Given the description of an element on the screen output the (x, y) to click on. 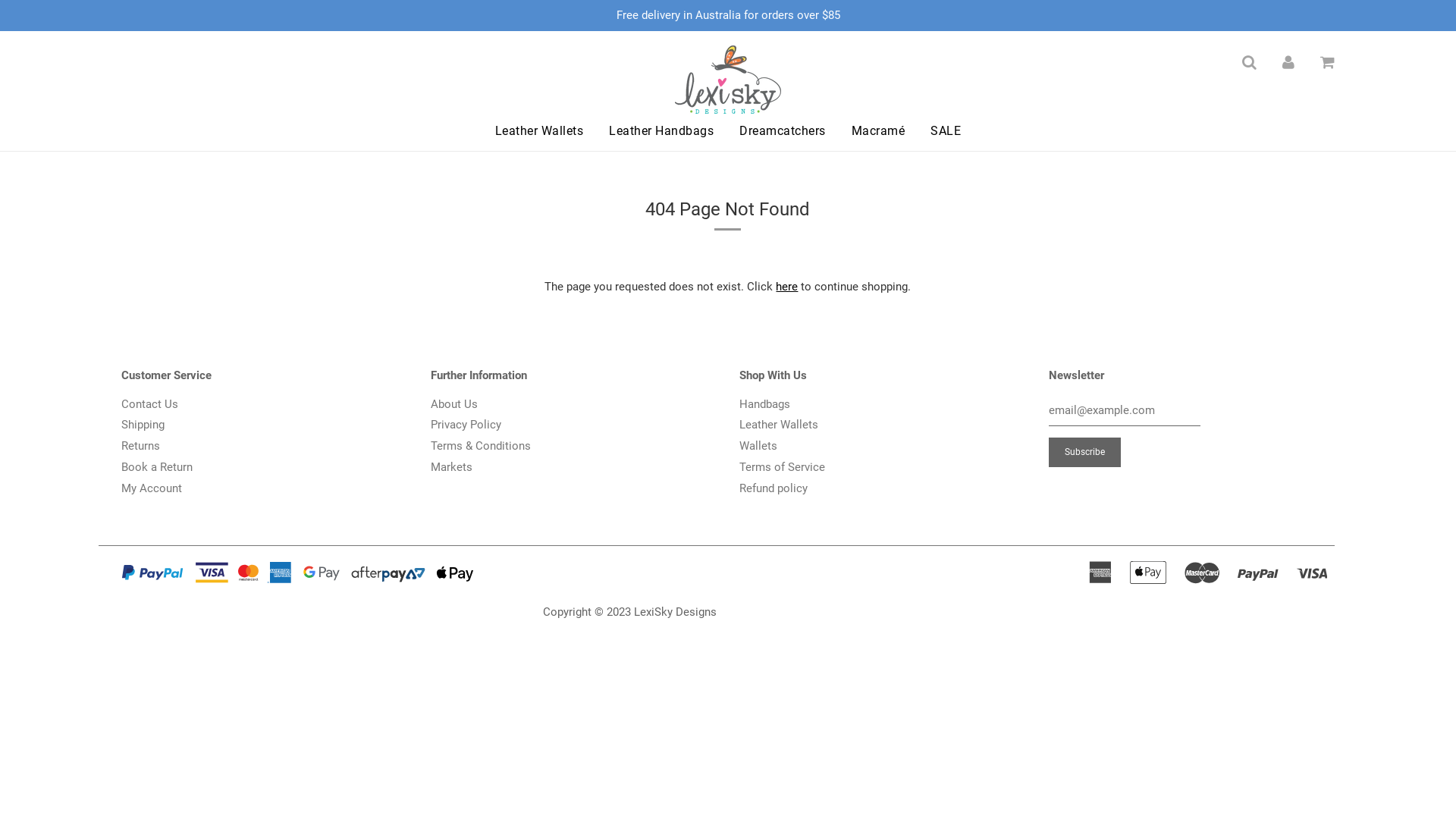
Dreamcatchers Element type: text (782, 130)
About Us Element type: text (453, 404)
My Account Element type: text (151, 488)
Book a Return Element type: text (156, 466)
Markets Element type: text (451, 466)
Log in Element type: hover (1288, 62)
Leather Wallets Element type: text (778, 424)
Returns Element type: text (140, 445)
Leather Wallets Element type: text (539, 130)
Shipping Element type: text (142, 424)
Terms of Service Element type: text (782, 466)
Contact Us Element type: text (149, 404)
Terms & Conditions Element type: text (480, 445)
Privacy Policy Element type: text (465, 424)
SALE Element type: text (939, 130)
Handbags Element type: text (764, 404)
Leather Handbags Element type: text (660, 130)
Refund policy Element type: text (773, 488)
Wallets Element type: text (758, 445)
here Element type: text (786, 286)
Subscribe Element type: text (1084, 452)
